Given the description of an element on the screen output the (x, y) to click on. 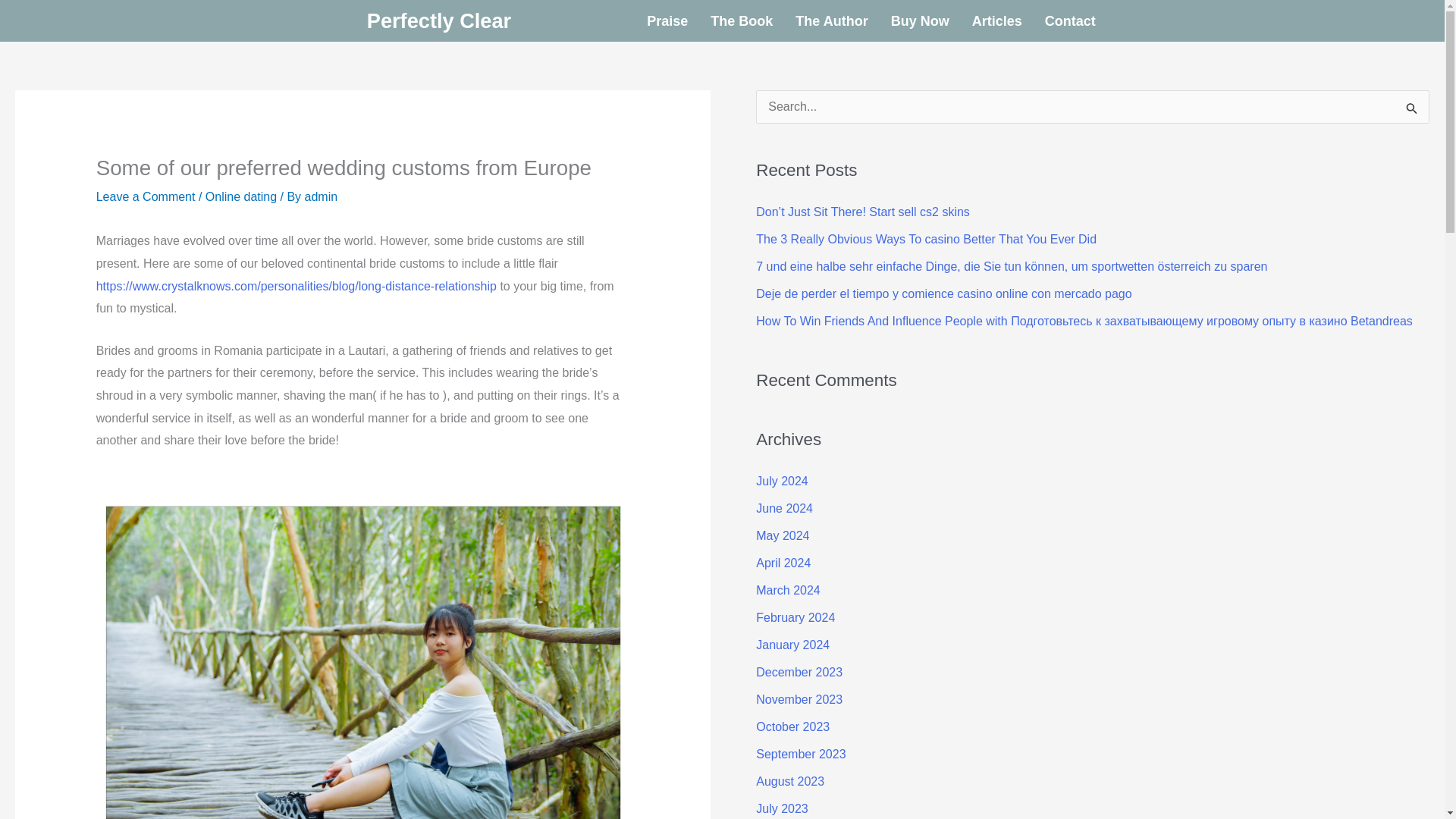
Praise (666, 21)
Online dating (240, 196)
January 2024 (792, 644)
Leave a Comment (145, 196)
June 2024 (783, 508)
July 2024 (781, 481)
View all posts by admin (320, 196)
May 2024 (782, 535)
March 2024 (788, 590)
December 2023 (799, 671)
The 3 Really Obvious Ways To casino Better That You Ever Did (925, 238)
November 2023 (799, 698)
The Book (741, 21)
Buy Now (919, 21)
Perfectly Clear (438, 20)
